Given the description of an element on the screen output the (x, y) to click on. 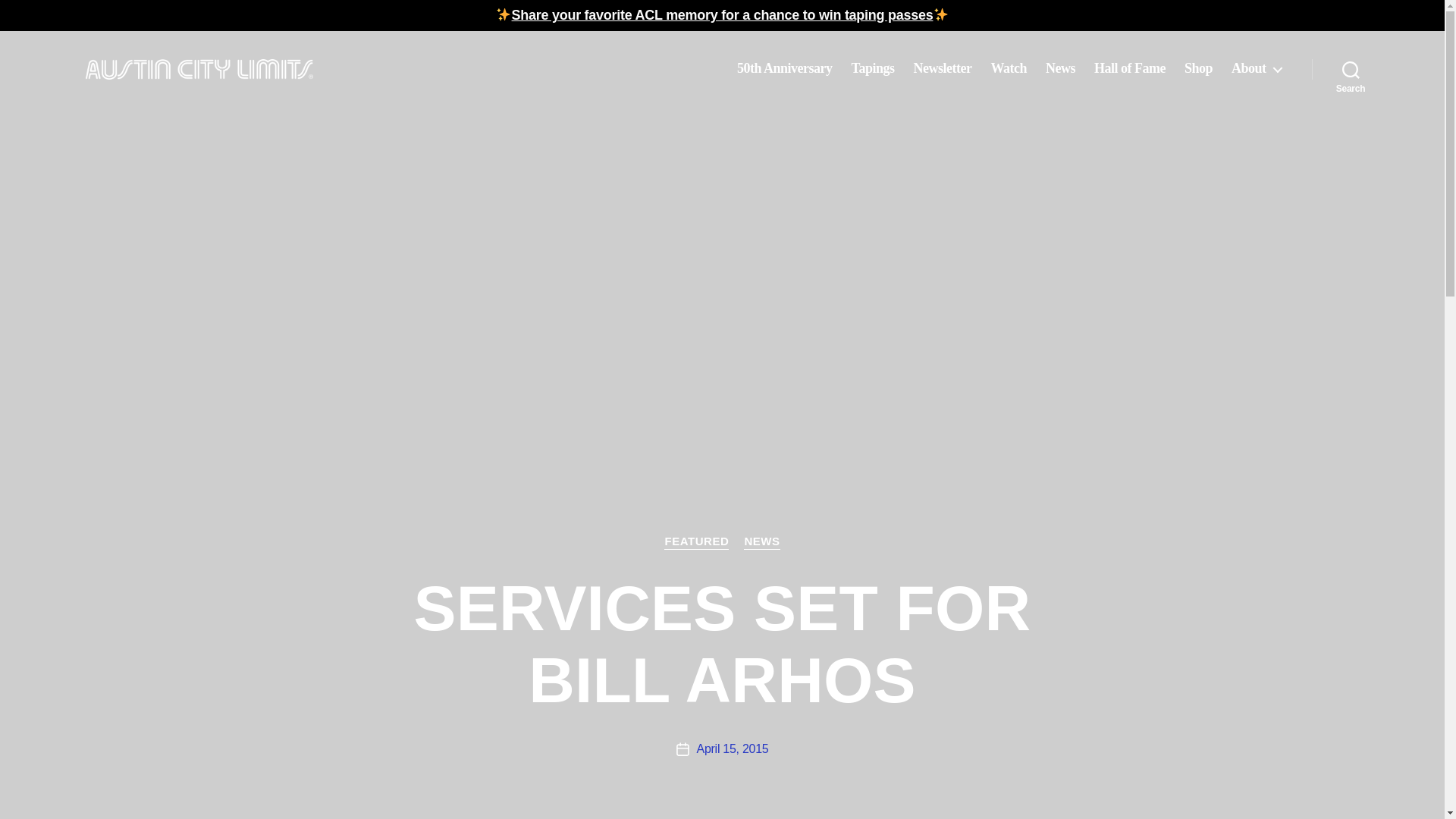
Tapings (873, 68)
Hall of Fame (1130, 68)
About (1256, 68)
Shop (1198, 68)
News (1060, 68)
FEATURED (696, 541)
Newsletter (941, 68)
Watch (1008, 68)
50th Anniversary (784, 68)
Search (1350, 68)
